Given the description of an element on the screen output the (x, y) to click on. 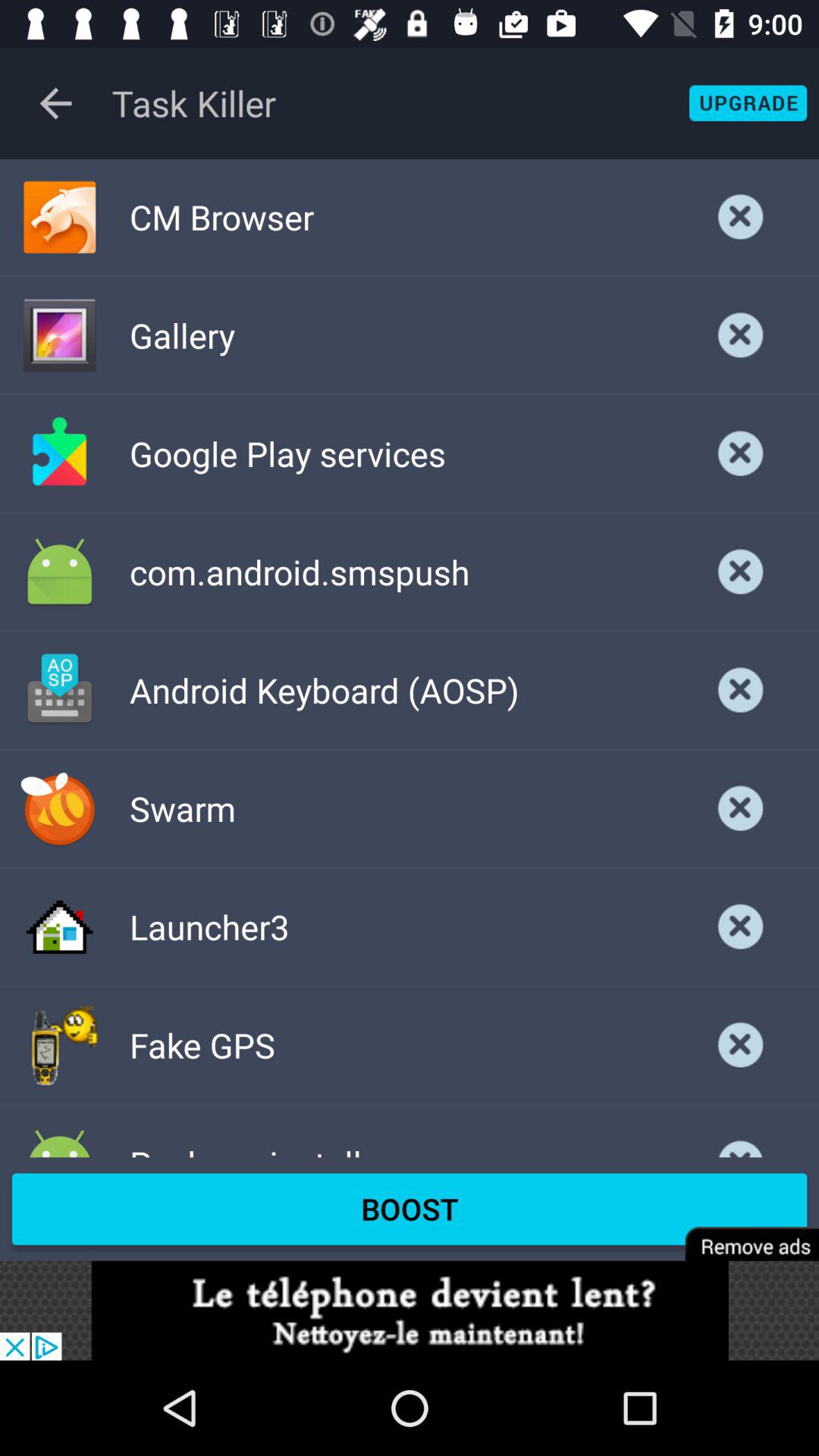
go back (55, 103)
